Given the description of an element on the screen output the (x, y) to click on. 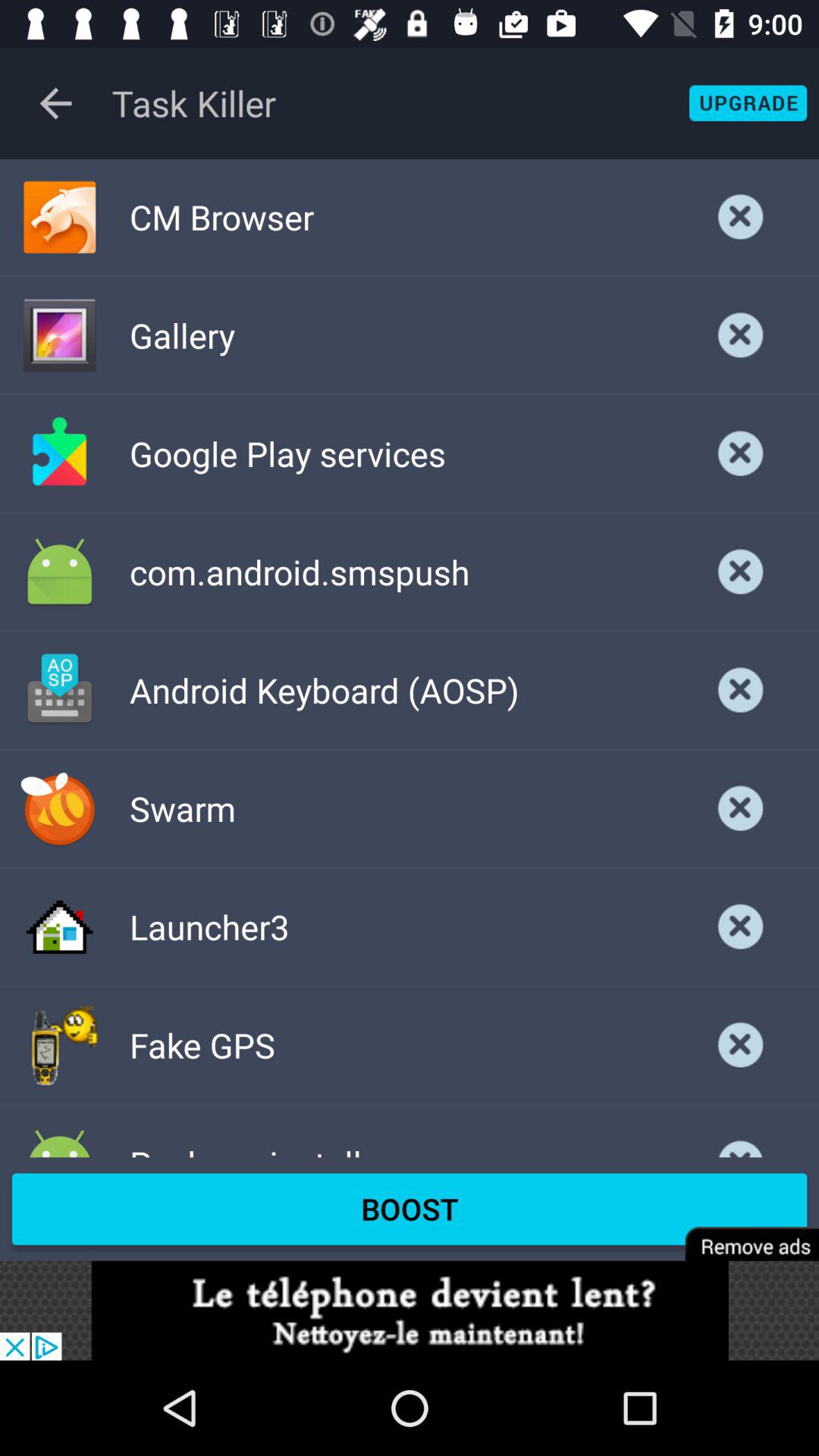
go back (55, 103)
